Given the description of an element on the screen output the (x, y) to click on. 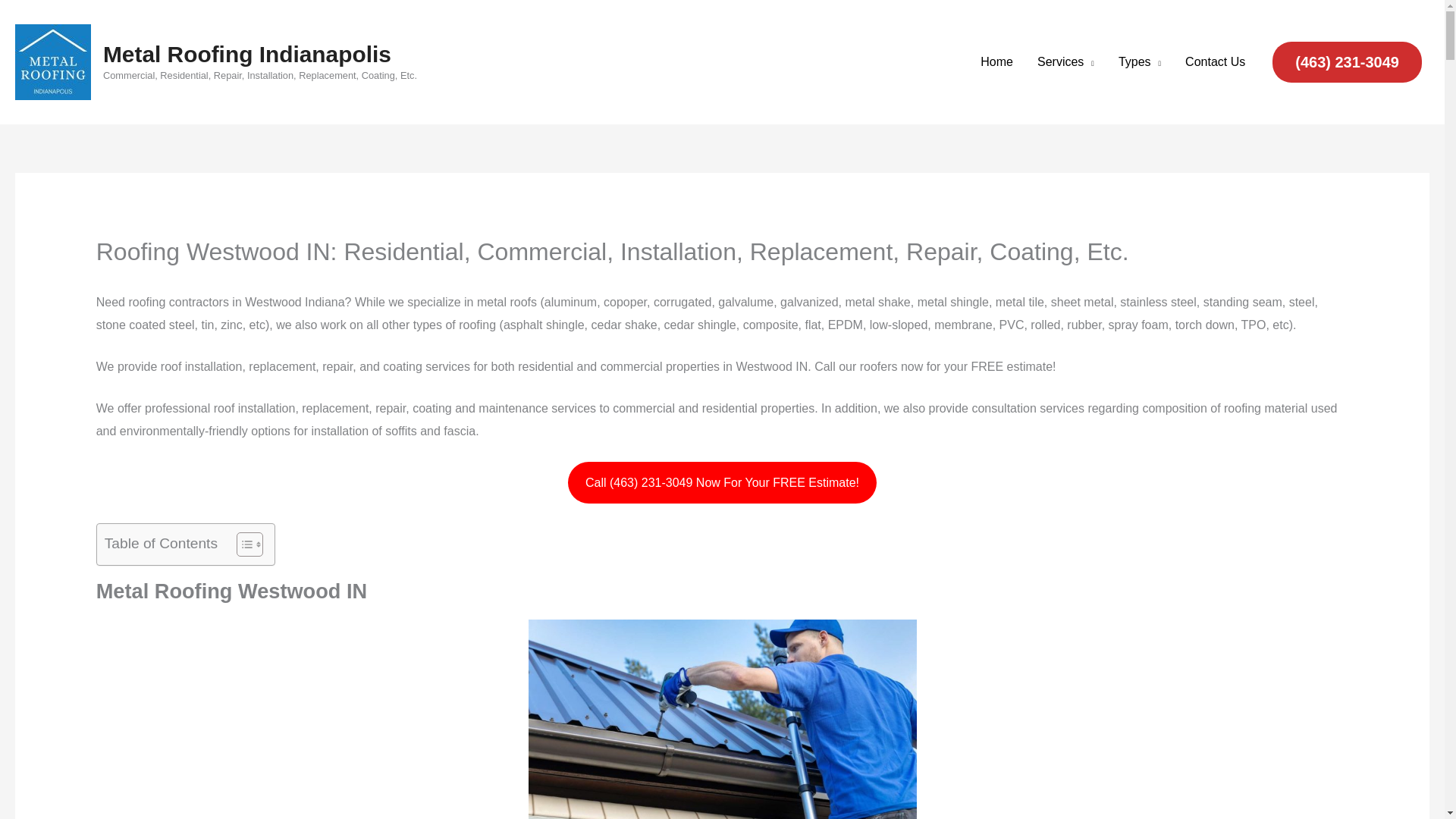
Services (1065, 62)
Home (996, 62)
Metal Roofing Indianapolis (247, 53)
